Given the description of an element on the screen output the (x, y) to click on. 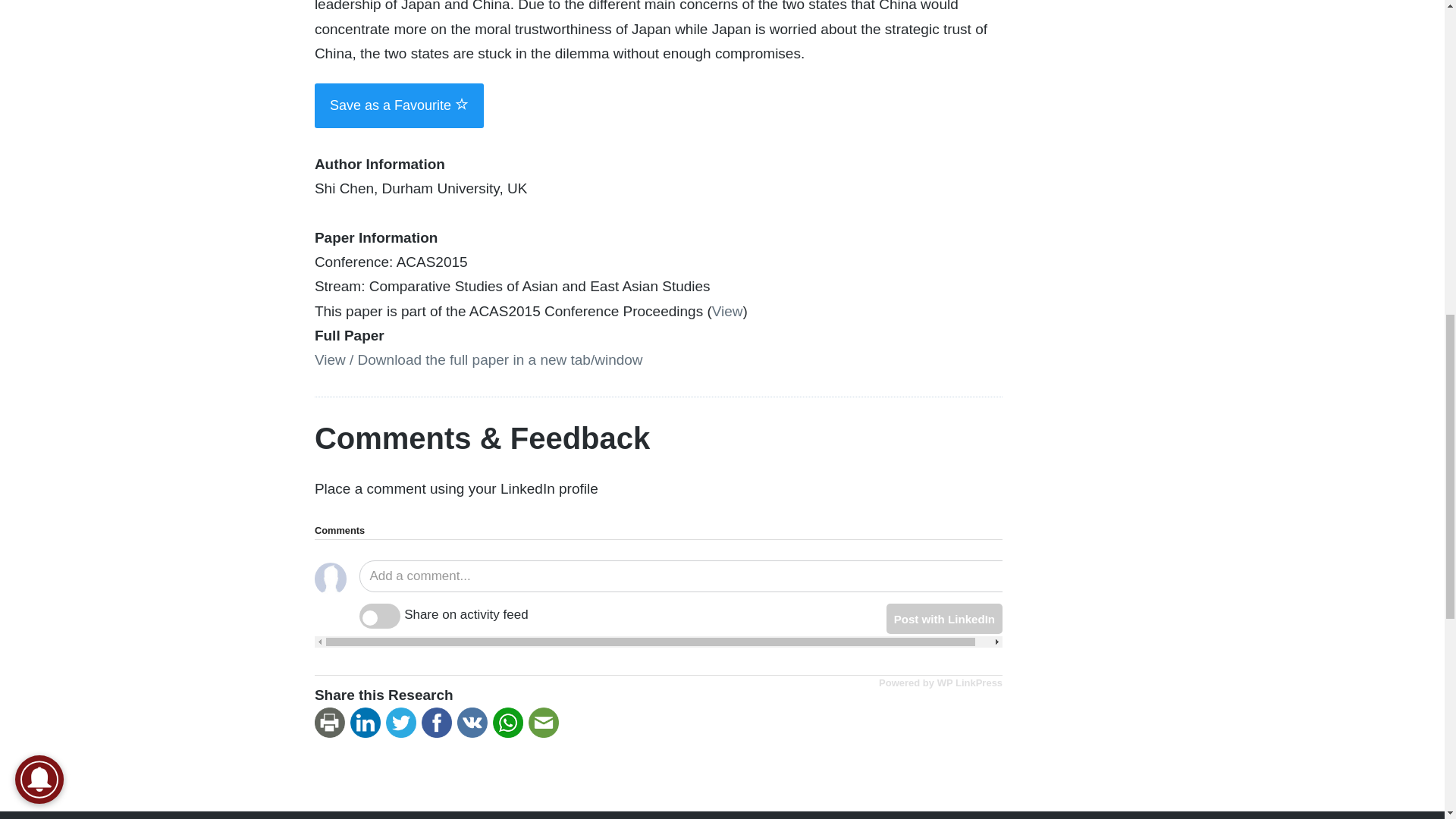
facebook (439, 723)
email (546, 723)
linkedin (367, 723)
whatsapp (510, 723)
vk (475, 723)
twitter (403, 723)
print (332, 723)
